Given the description of an element on the screen output the (x, y) to click on. 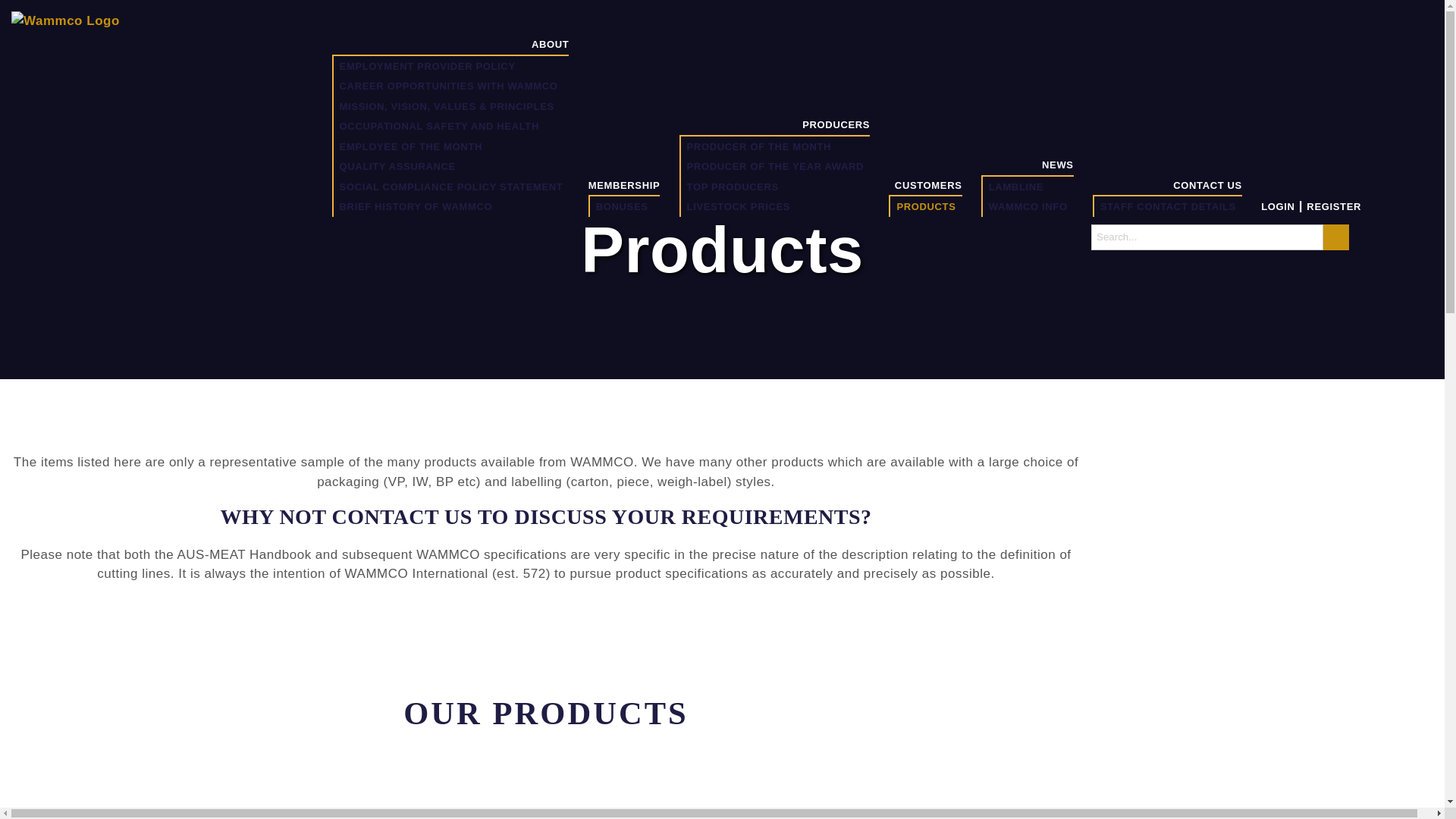
WAMMCO INFO (1028, 206)
PRODUCTS (924, 206)
SOCIAL COMPLIANCE POLICY STATEMENT (451, 186)
CAREER OPPORTUNITIES WITH WAMMCO (448, 85)
MEMBERSHIP (624, 184)
BONUSES (621, 206)
LAMBLINE (1015, 186)
EMPLOYMENT PROVIDER POLICY (427, 65)
TOP PRODUCERS (732, 186)
STAFF CONTACT DETAILS (1167, 206)
